Given the description of an element on the screen output the (x, y) to click on. 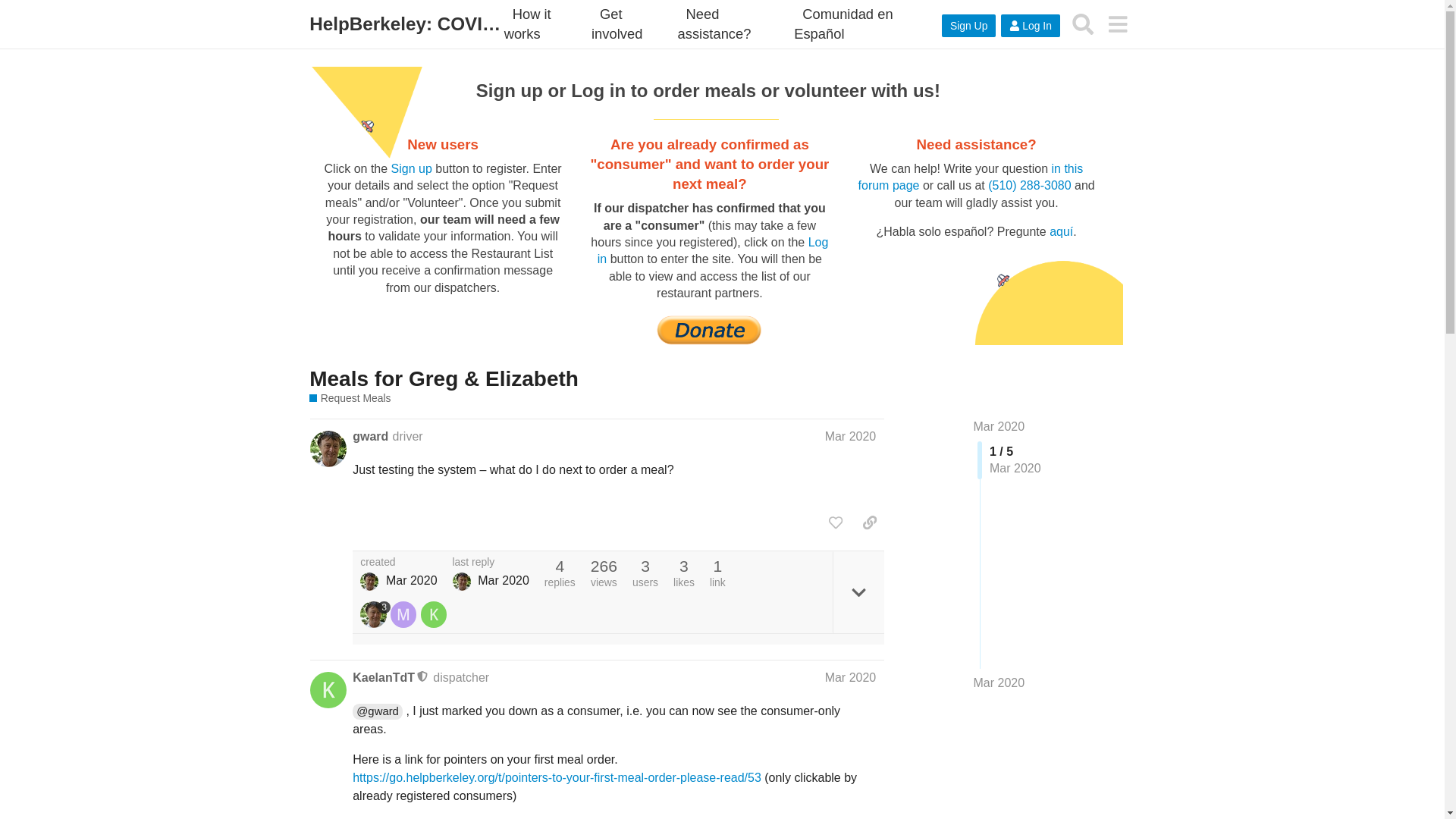
Mar 2020 (850, 676)
Mar 2020 (999, 426)
last reply (490, 562)
Log in (712, 250)
Jump to the last post (999, 682)
volunteer hub (620, 23)
3 (374, 614)
Mar 2020 (850, 436)
this link will open a new tab (527, 23)
Jump to the first post (999, 426)
Need assistance? (719, 23)
Search (1082, 23)
Get involved (620, 23)
Request Meals (349, 398)
soporte a hispanohablantes (842, 23)
